Given the description of an element on the screen output the (x, y) to click on. 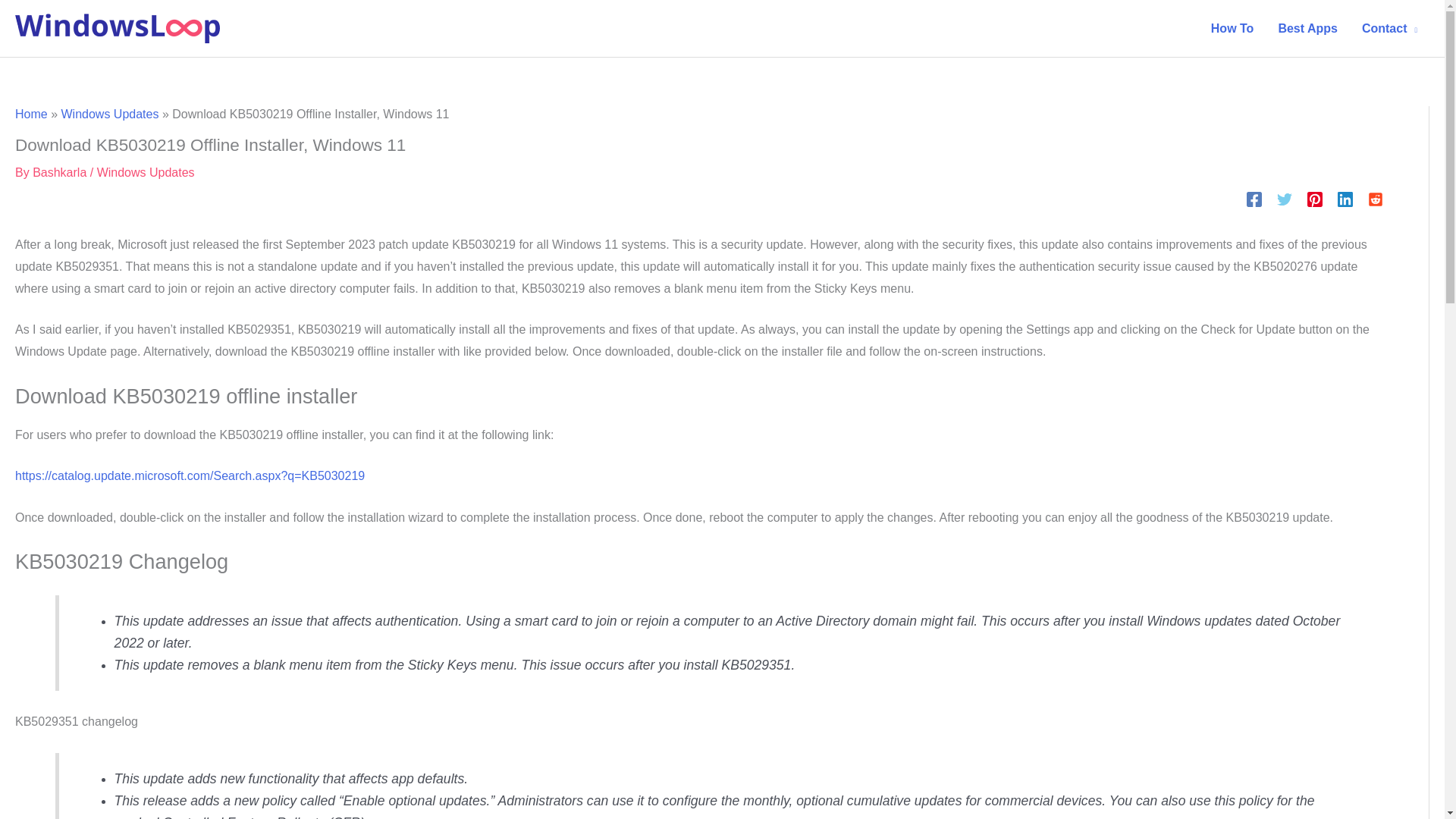
Home (31, 113)
How To (1232, 27)
Bashkarla (58, 171)
Windows Updates (109, 113)
Windows Updates (146, 171)
Contact (1389, 27)
Best Apps (1307, 27)
View all posts by Bashkarla (58, 171)
